Given the description of an element on the screen output the (x, y) to click on. 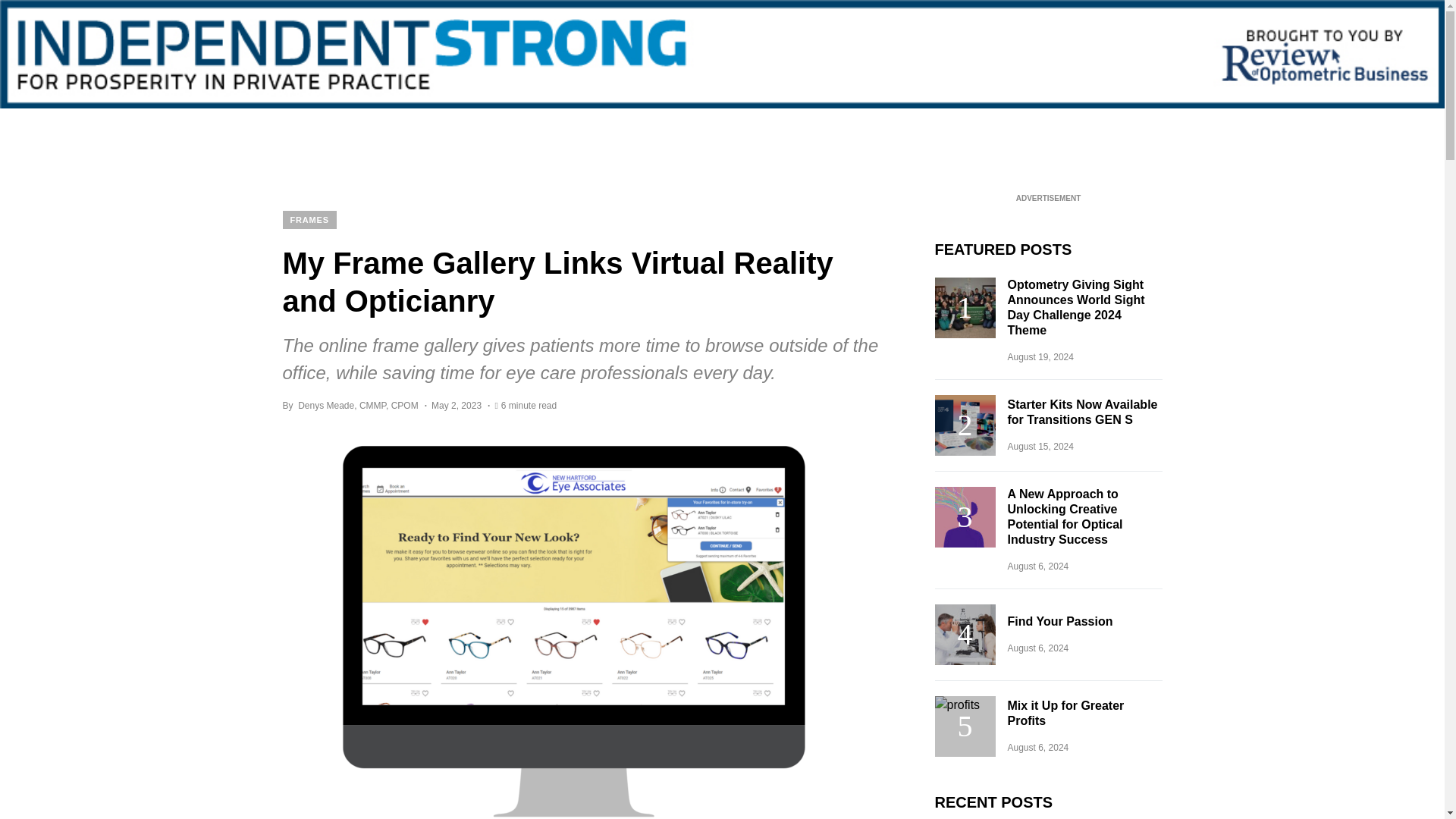
OPHTHALMIC PRODUCTS (748, 130)
PRACTICE GROWTH STRATEGIES (567, 130)
PRACTICE MANAGEMENT (386, 130)
VIDEOS (903, 130)
